Given the description of an element on the screen output the (x, y) to click on. 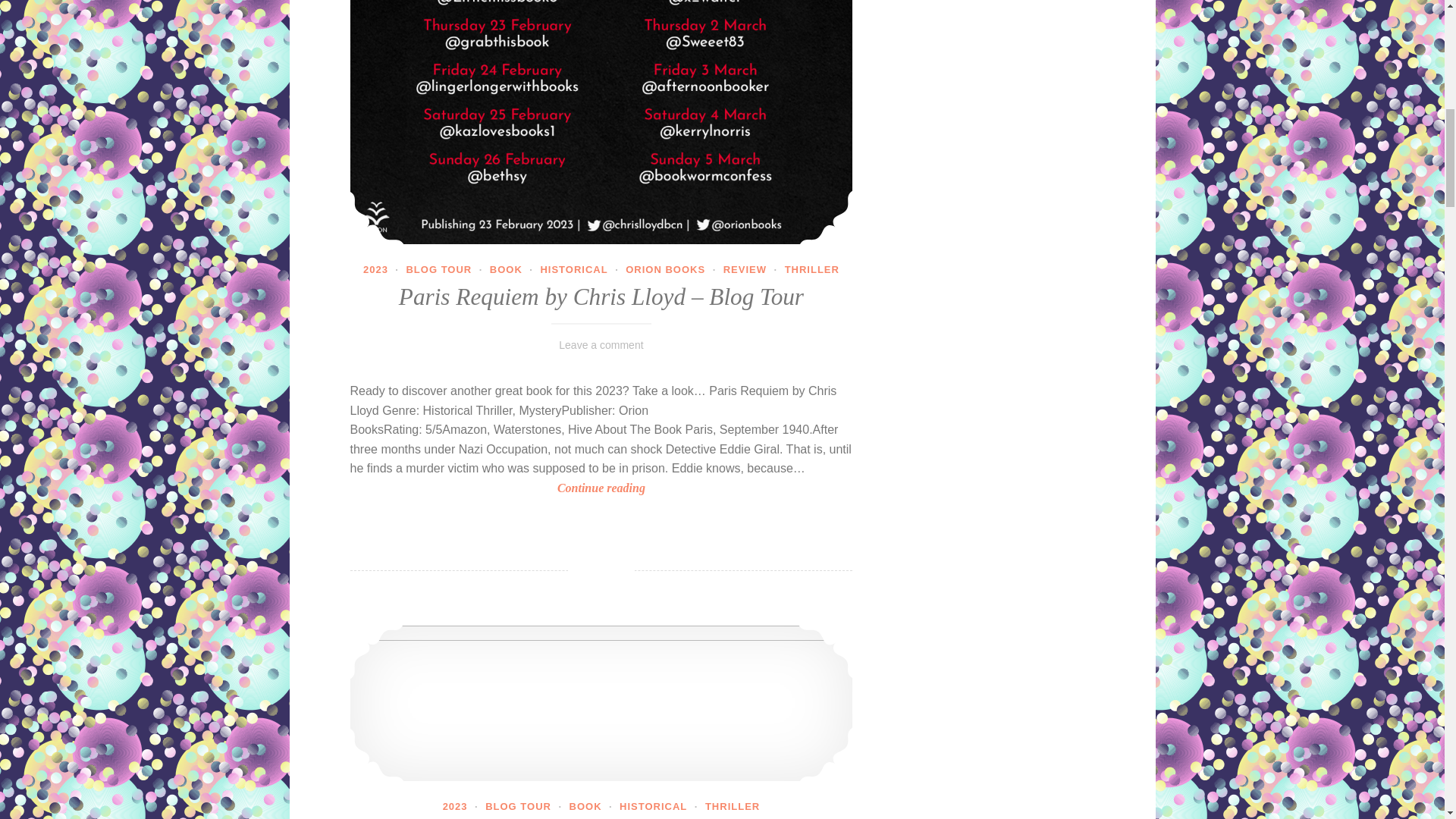
2023 (375, 269)
Leave a comment (601, 345)
ORION BOOKS (665, 269)
HISTORICAL (573, 269)
REVIEW (745, 269)
BOOK (505, 269)
Continue reading (601, 487)
THRILLER (812, 269)
BLOG TOUR (438, 269)
